Given the description of an element on the screen output the (x, y) to click on. 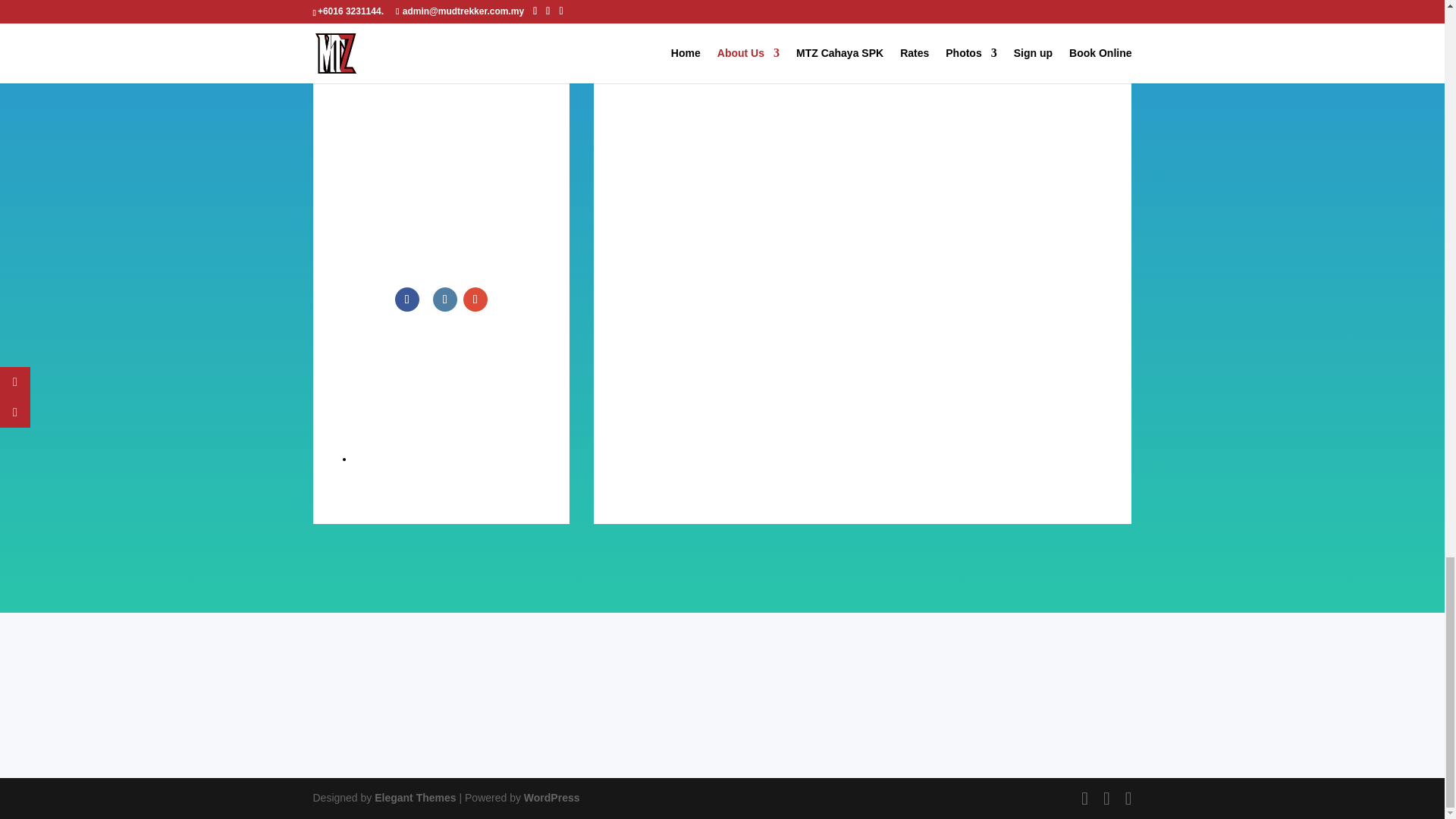
Follow on Facebook (406, 299)
Follow on Instagram (444, 299)
Premium WordPress Themes (414, 797)
